Given the description of an element on the screen output the (x, y) to click on. 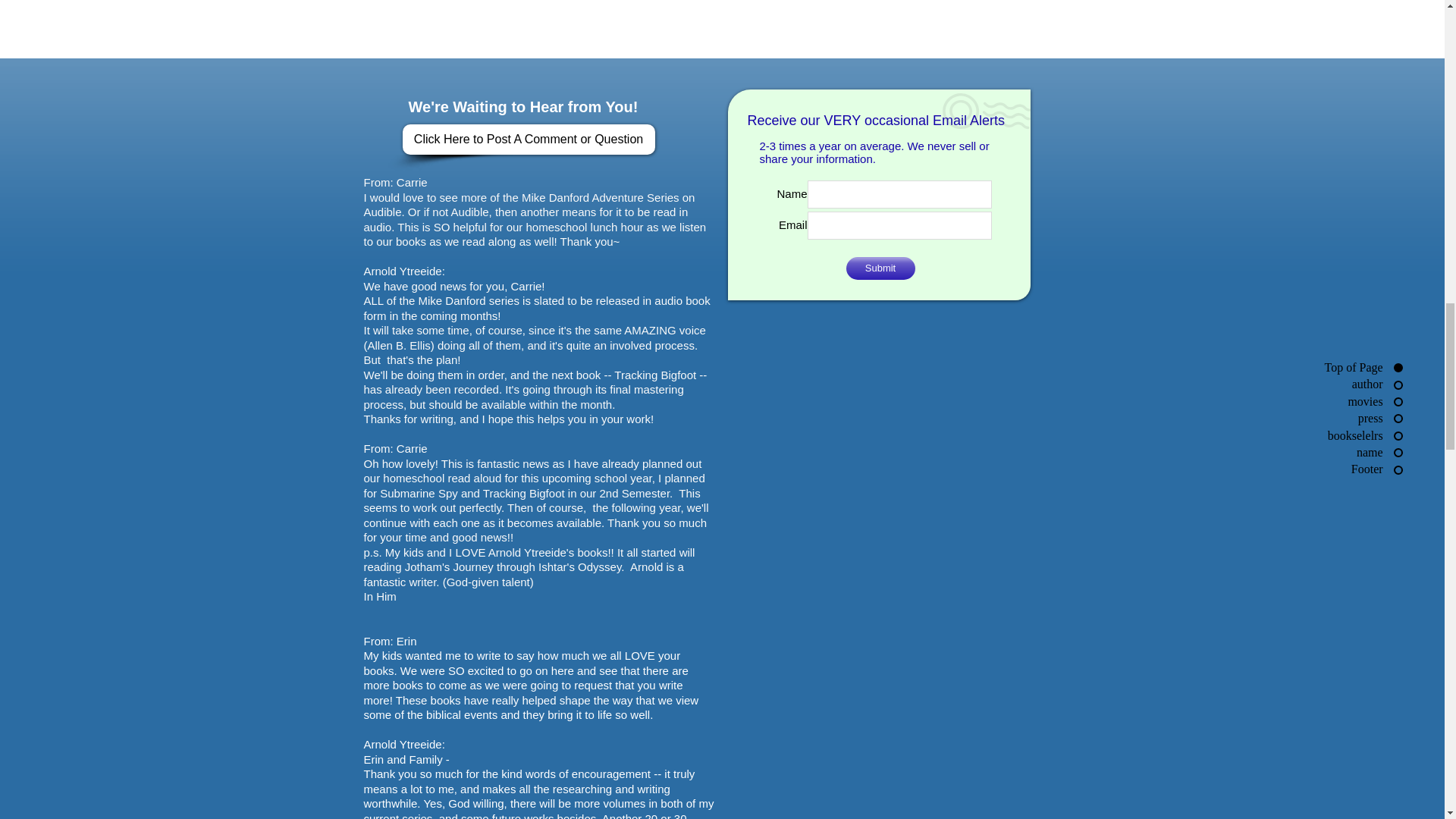
Click Here to Post A Comment or Question (527, 139)
Submit (880, 268)
